Given the description of an element on the screen output the (x, y) to click on. 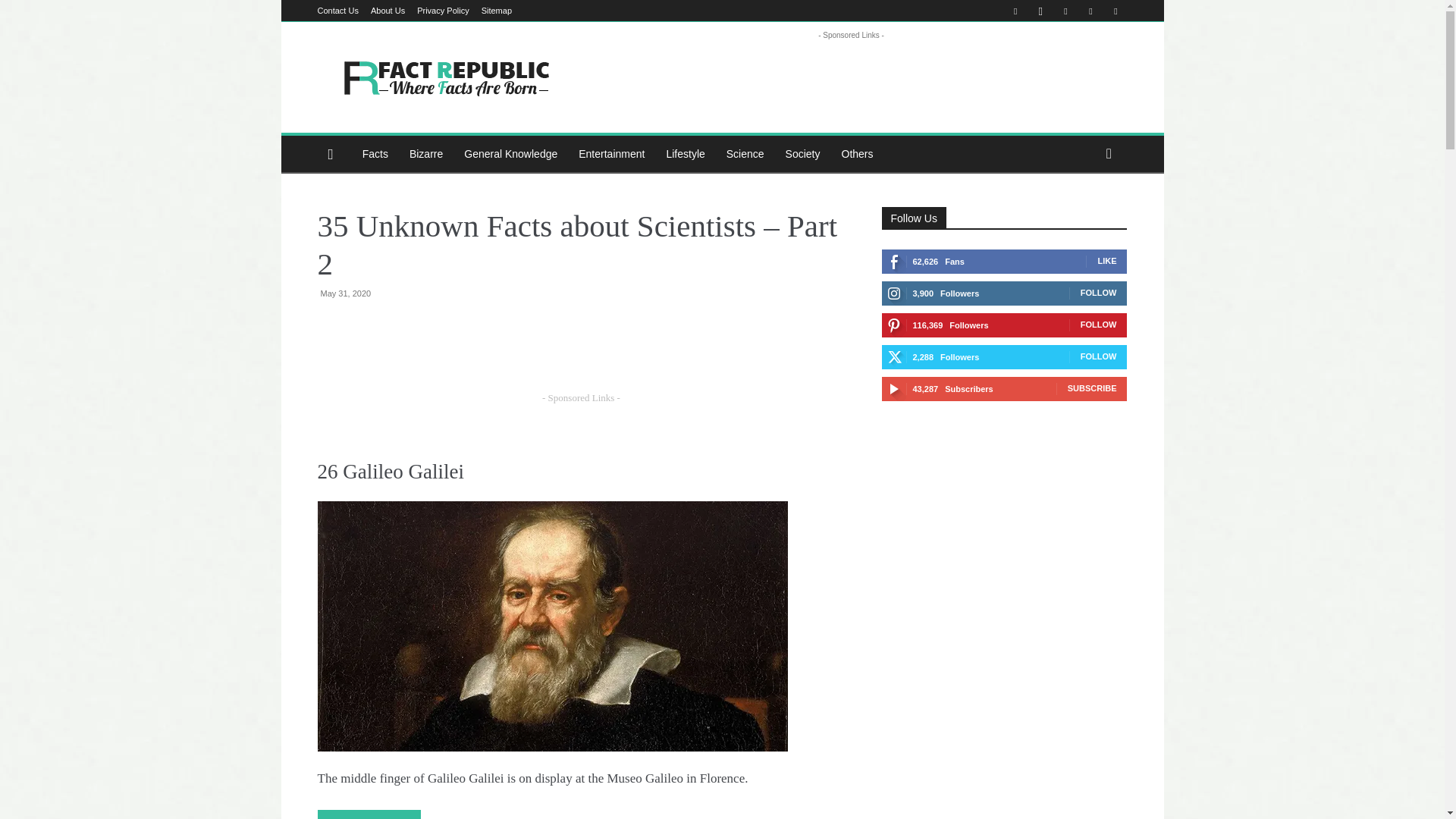
Youtube (1114, 10)
Twitter (1090, 10)
Facebook (1015, 10)
Instagram (1040, 10)
Pinterest (1065, 10)
Where Facts Are Born (445, 77)
